Given the description of an element on the screen output the (x, y) to click on. 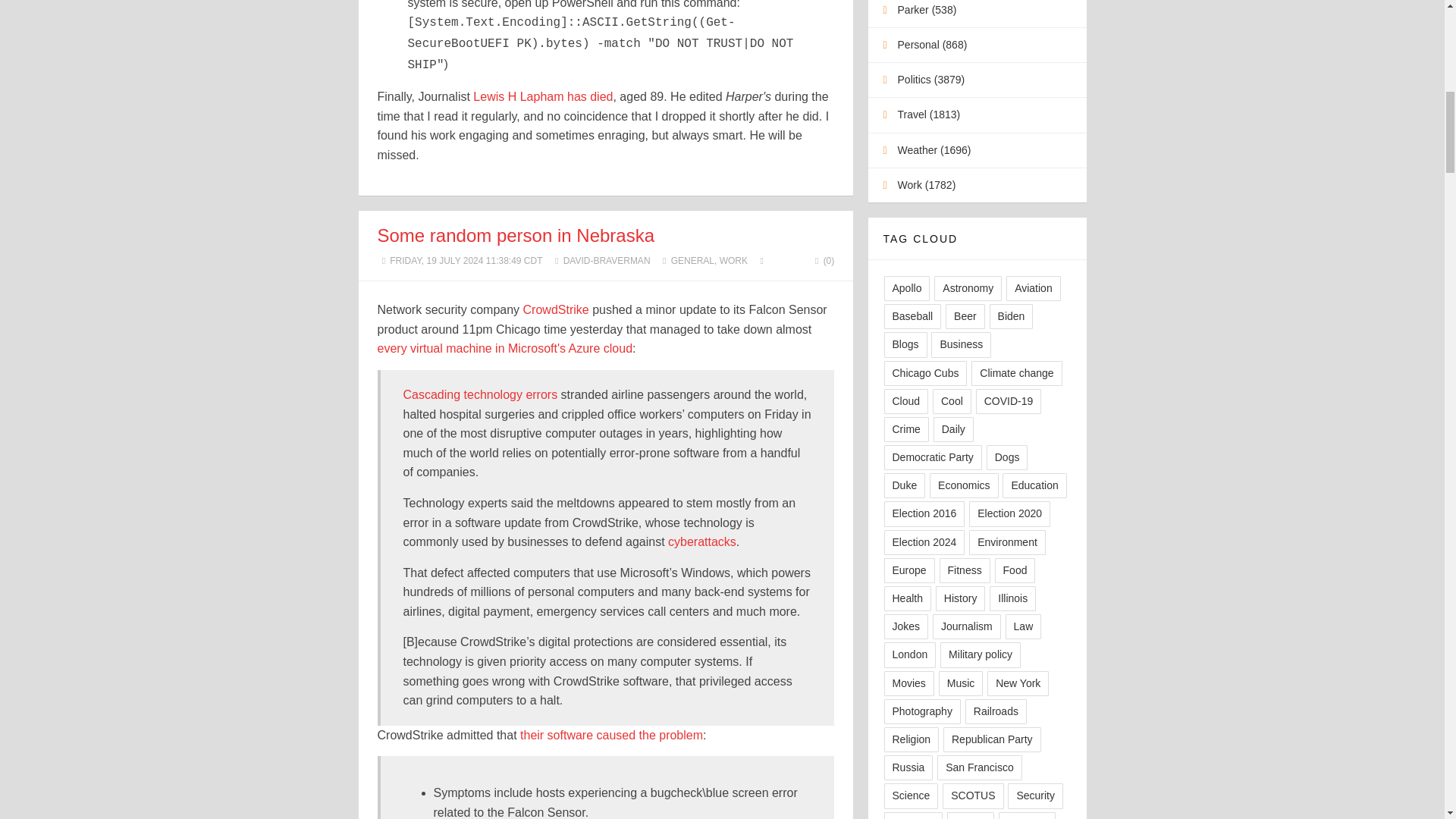
Some random person in Nebraska (516, 235)
WORK (733, 260)
CrowdStrike (555, 309)
DAVID-BRAVERMAN (606, 260)
Lewis H Lapham has died (542, 96)
GENERAL (692, 260)
every virtual machine in Microsoft's Azure cloud (505, 348)
Cascading technology errors (480, 394)
cyberattacks (702, 541)
their software caused the problem (611, 735)
Open a map of the location where this post was written (761, 260)
